Given the description of an element on the screen output the (x, y) to click on. 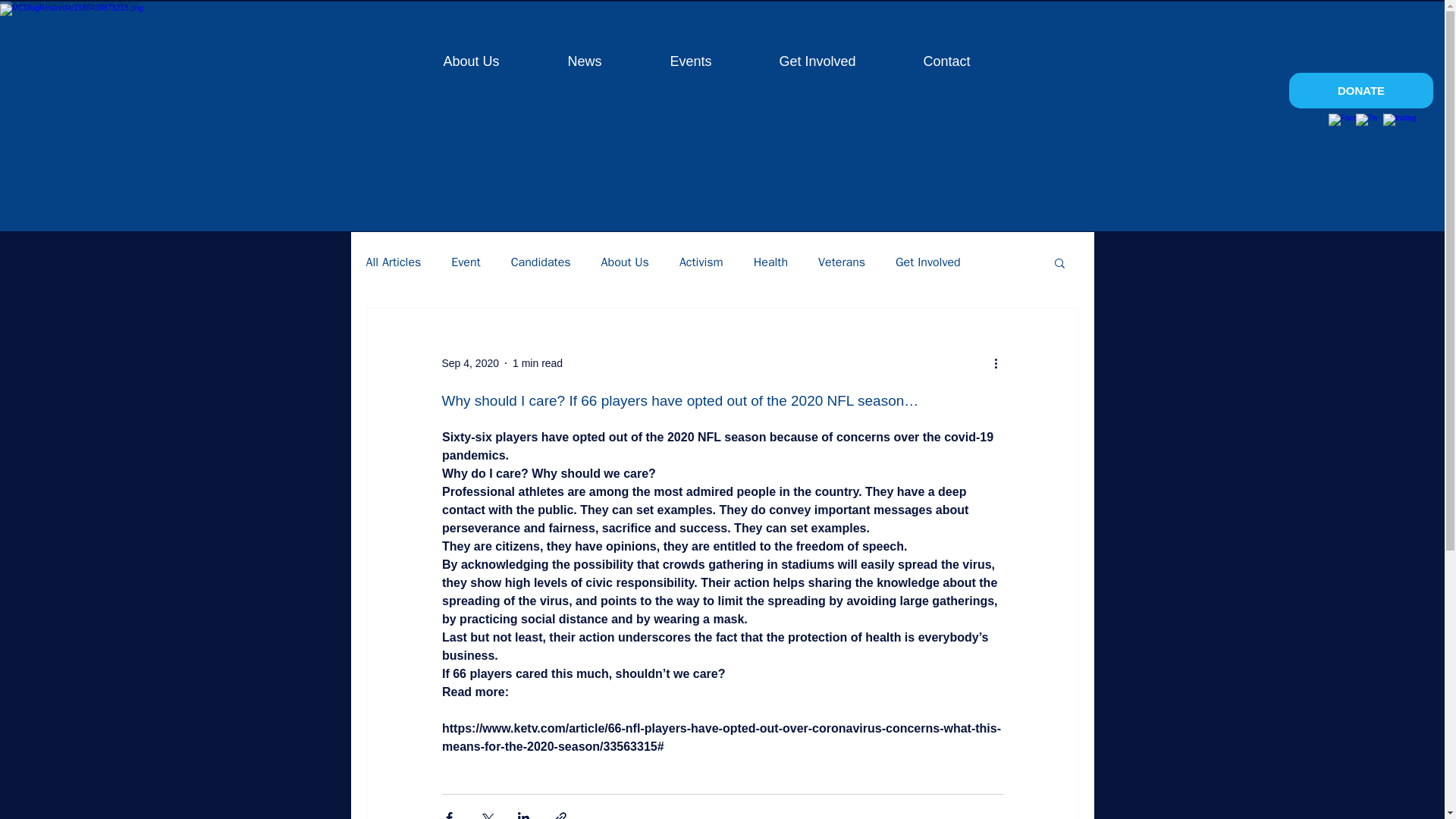
DONATE (1360, 90)
Sep 4, 2020 (470, 362)
Get Involved (795, 61)
Candidates (540, 262)
1 min read (537, 362)
All Articles (392, 262)
Events (667, 61)
About Us (625, 262)
Health (770, 262)
Event (465, 262)
